Given the description of an element on the screen output the (x, y) to click on. 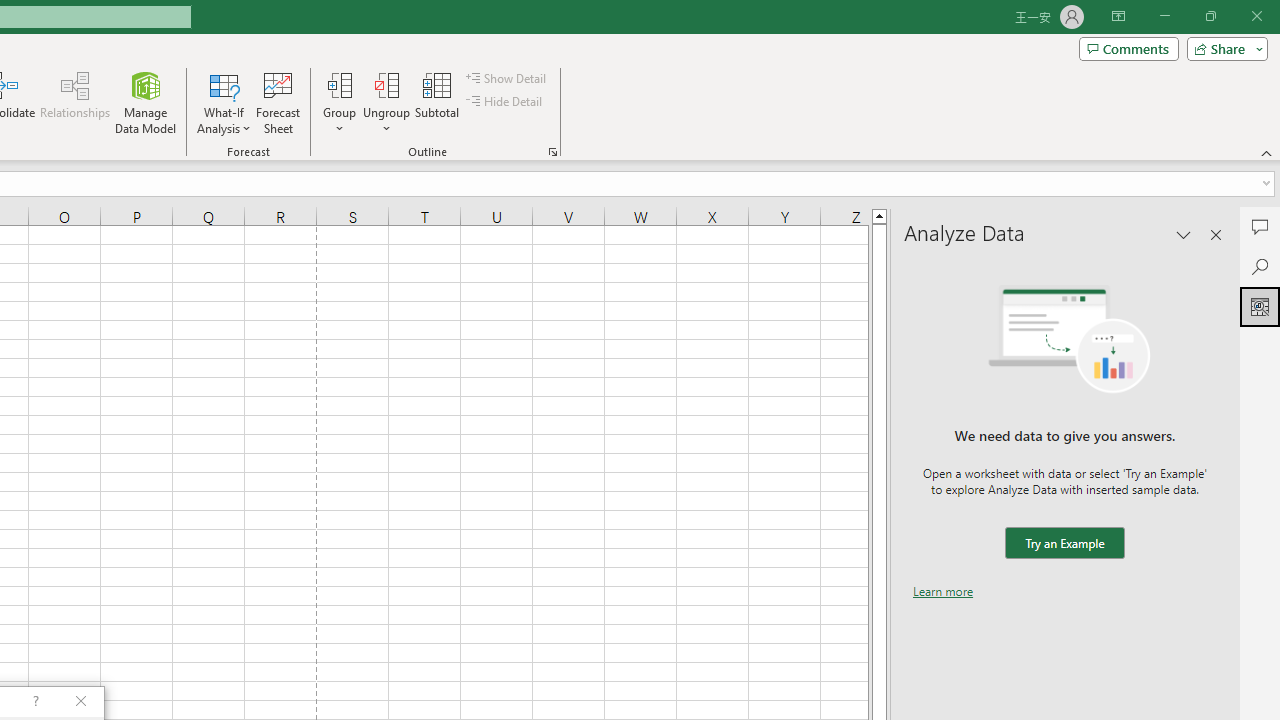
Hide Detail (505, 101)
Close pane (1215, 234)
Relationships (75, 102)
Subtotal (437, 102)
Ungroup... (386, 102)
Show Detail (507, 78)
Search (1260, 266)
Restore Down (1210, 16)
Learn more (943, 591)
Group and Outline Settings (552, 151)
